Given the description of an element on the screen output the (x, y) to click on. 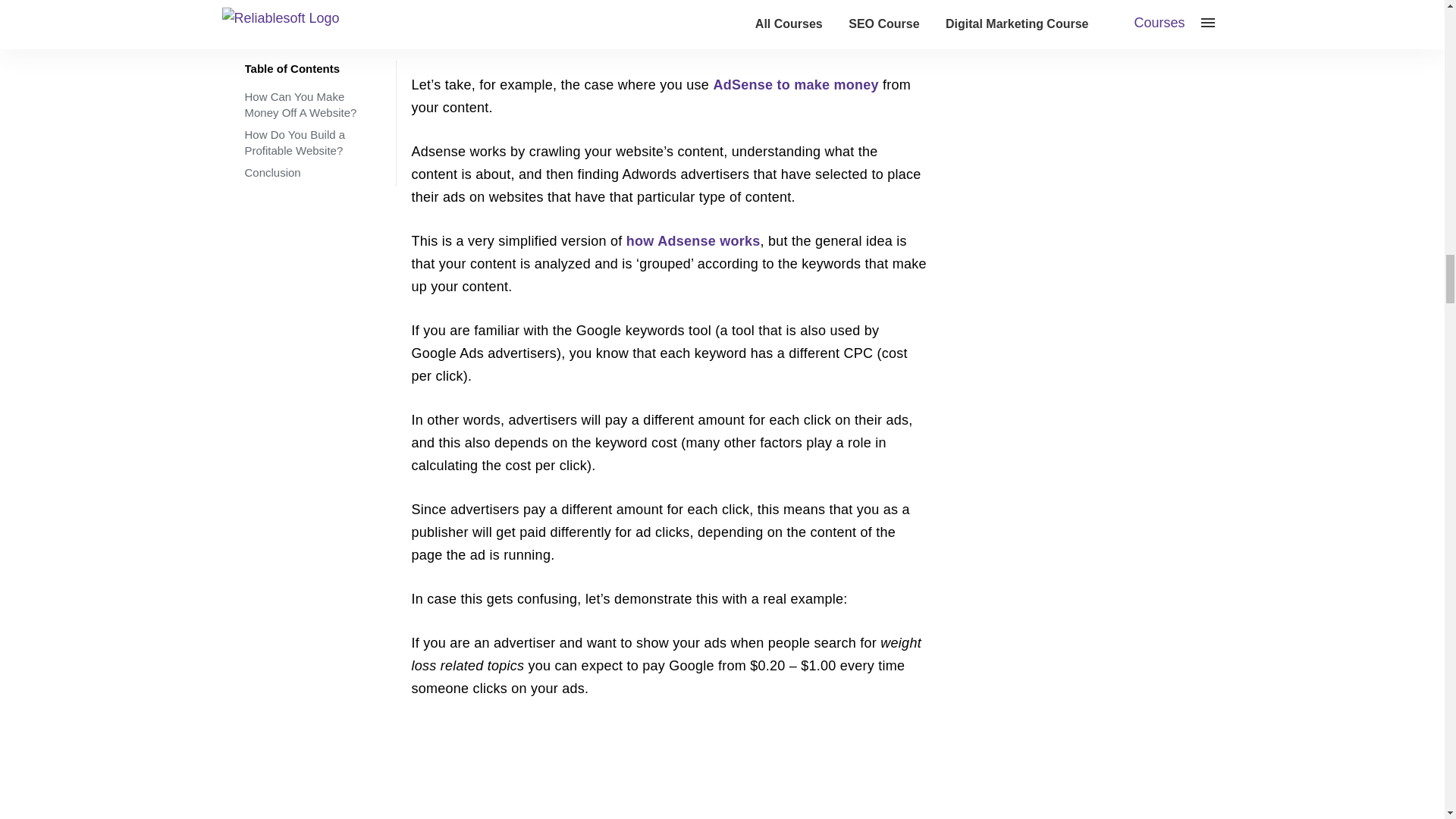
how Adsense works (693, 240)
AdSense to make money (795, 84)
